Given the description of an element on the screen output the (x, y) to click on. 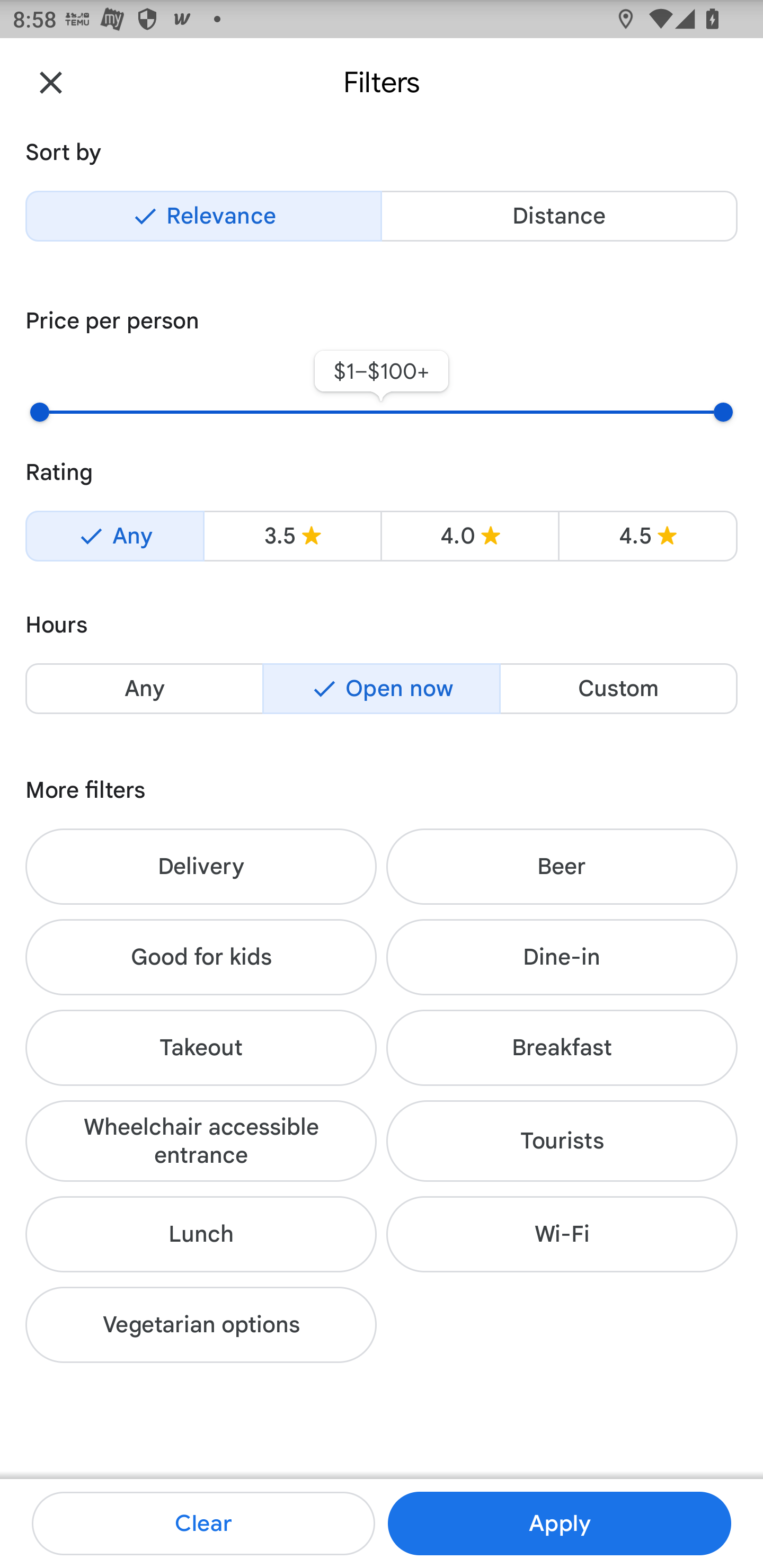
Close menu (50, 81)
Relevance (203, 216)
Distance (558, 216)
Any (114, 535)
3.5 stars (292, 535)
4.0 stars (469, 535)
4.5 stars (647, 535)
Any (144, 688)
Open now (381, 688)
Custom (618, 688)
Delivery (200, 865)
Beer (561, 865)
Good for kids (200, 956)
Dine-in (561, 956)
Takeout (200, 1047)
Breakfast (561, 1047)
Wheelchair accessible entrance (200, 1141)
Tourists (561, 1141)
Lunch (200, 1233)
Wi-Fi (561, 1233)
Vegetarian options (200, 1324)
Clear Clear Clear (203, 1522)
Apply Apply Apply (558, 1522)
